Given the description of an element on the screen output the (x, y) to click on. 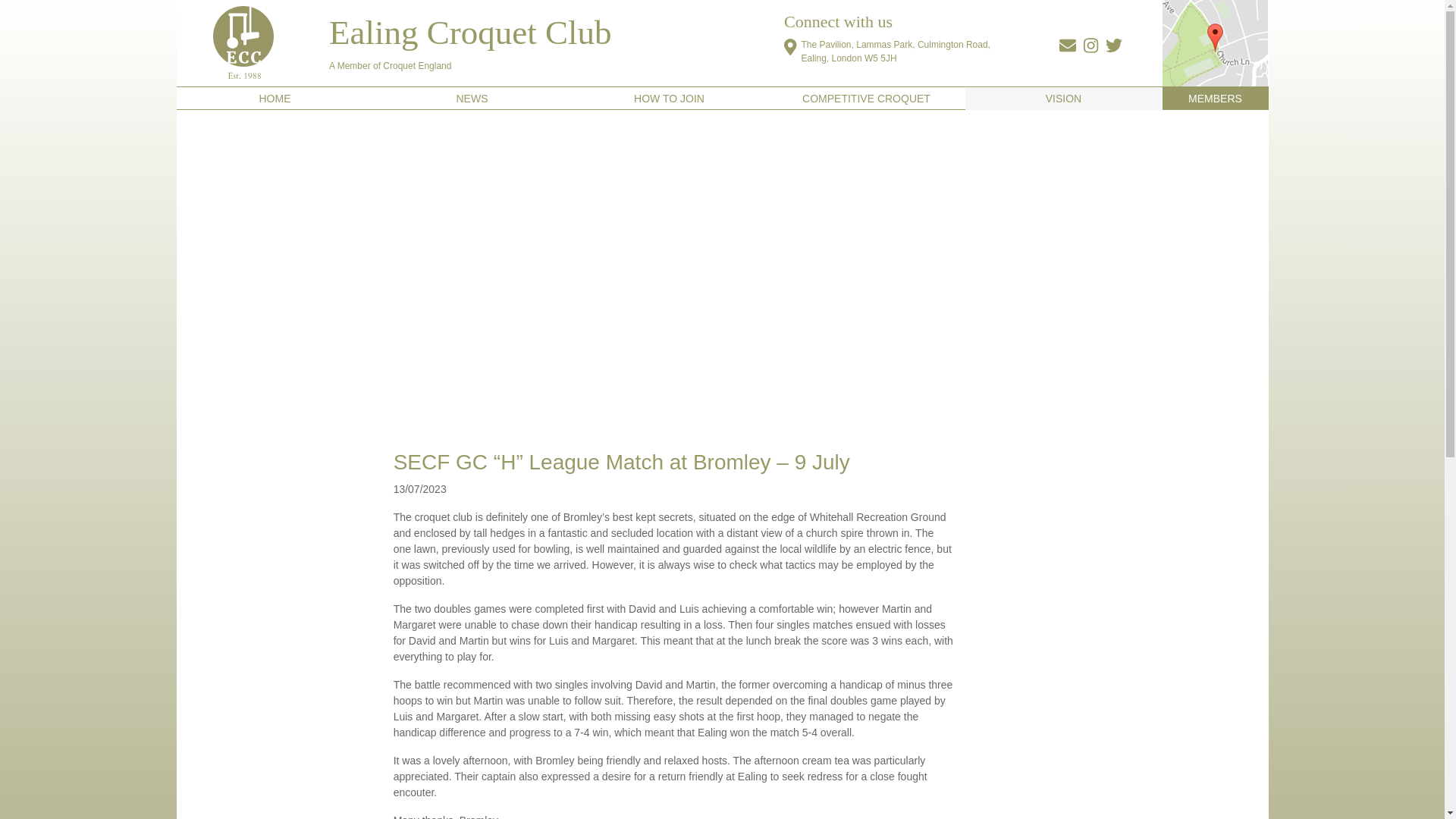
MEMBERS (1214, 98)
NEWS (472, 98)
HOW TO JOIN (668, 98)
VISION (1063, 98)
HOME (275, 98)
COMPETITIVE CROQUET (866, 98)
